Given the description of an element on the screen output the (x, y) to click on. 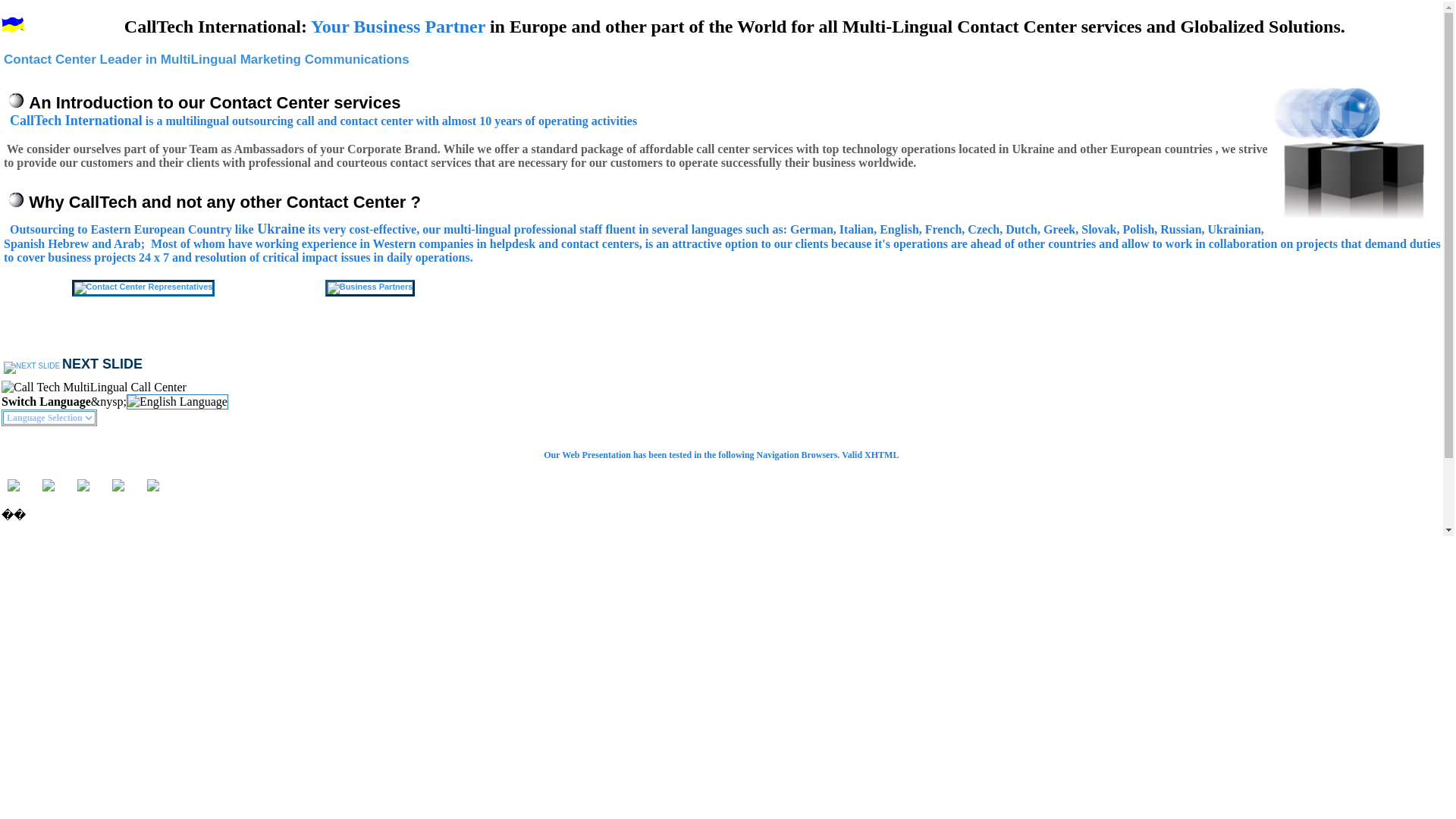
 NEXT SLIDE (73, 365)
NEXT SLIDE (73, 365)
Current Language: English (177, 401)
